Given the description of an element on the screen output the (x, y) to click on. 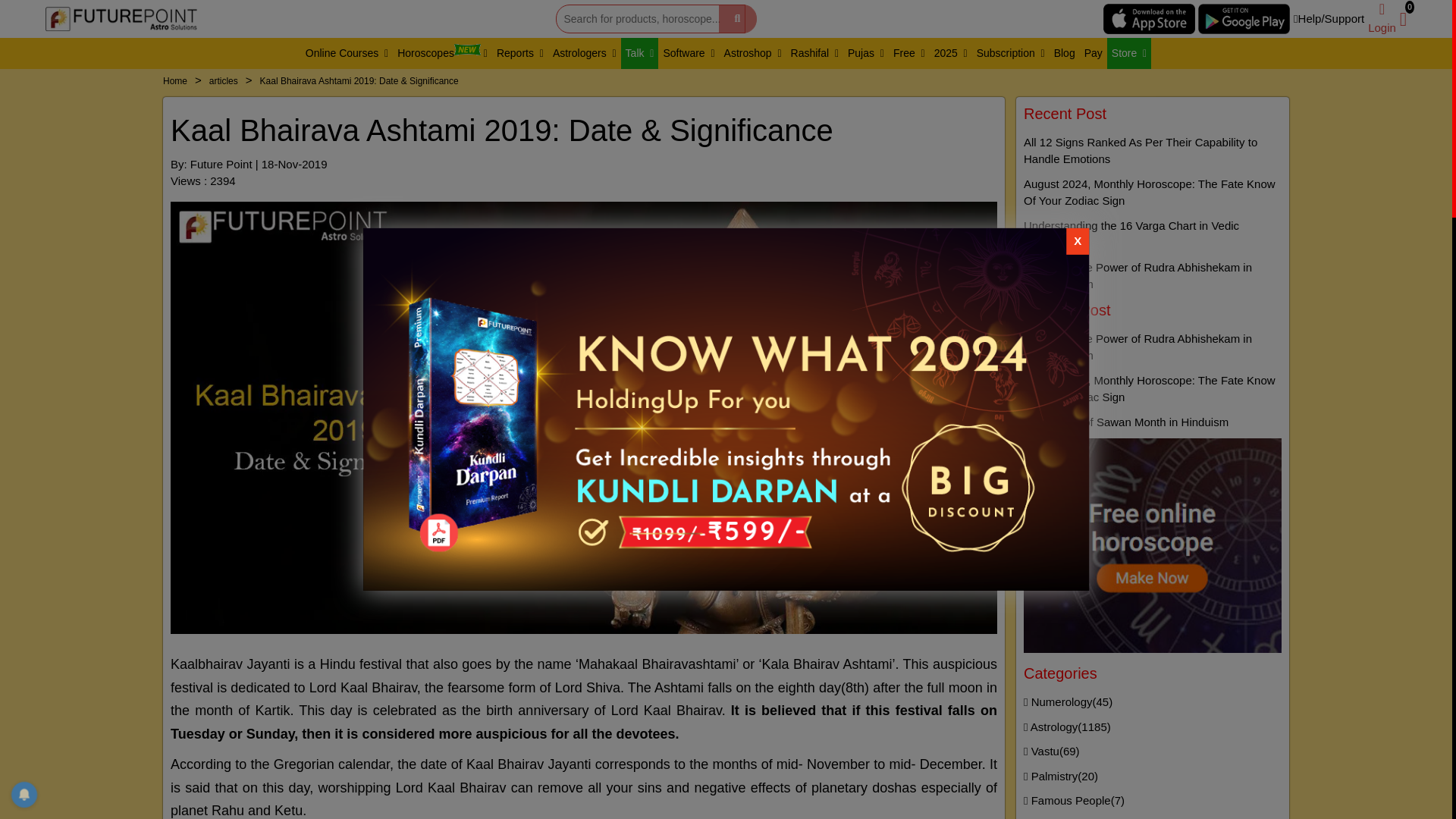
0 (1402, 18)
Login (1382, 18)
